Given the description of an element on the screen output the (x, y) to click on. 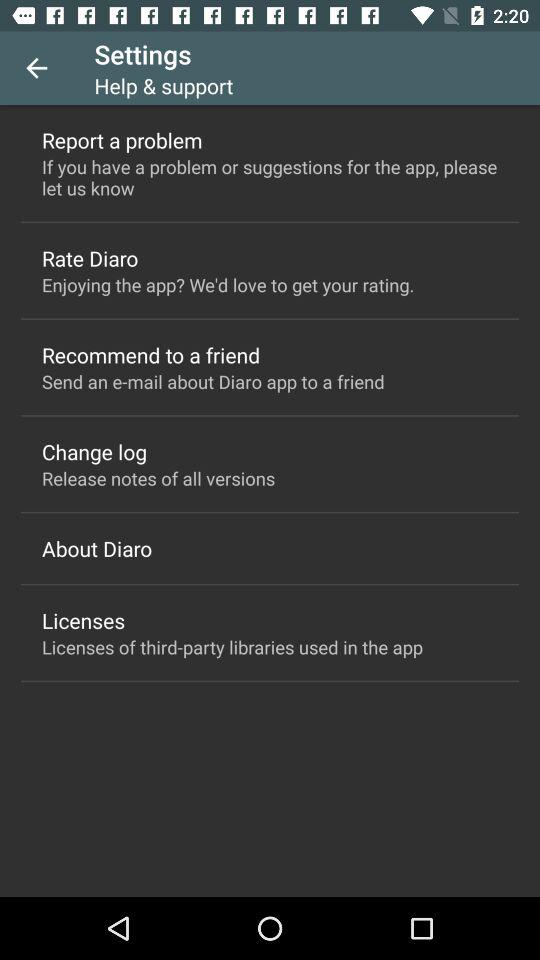
turn on the item above the report a problem (36, 68)
